Given the description of an element on the screen output the (x, y) to click on. 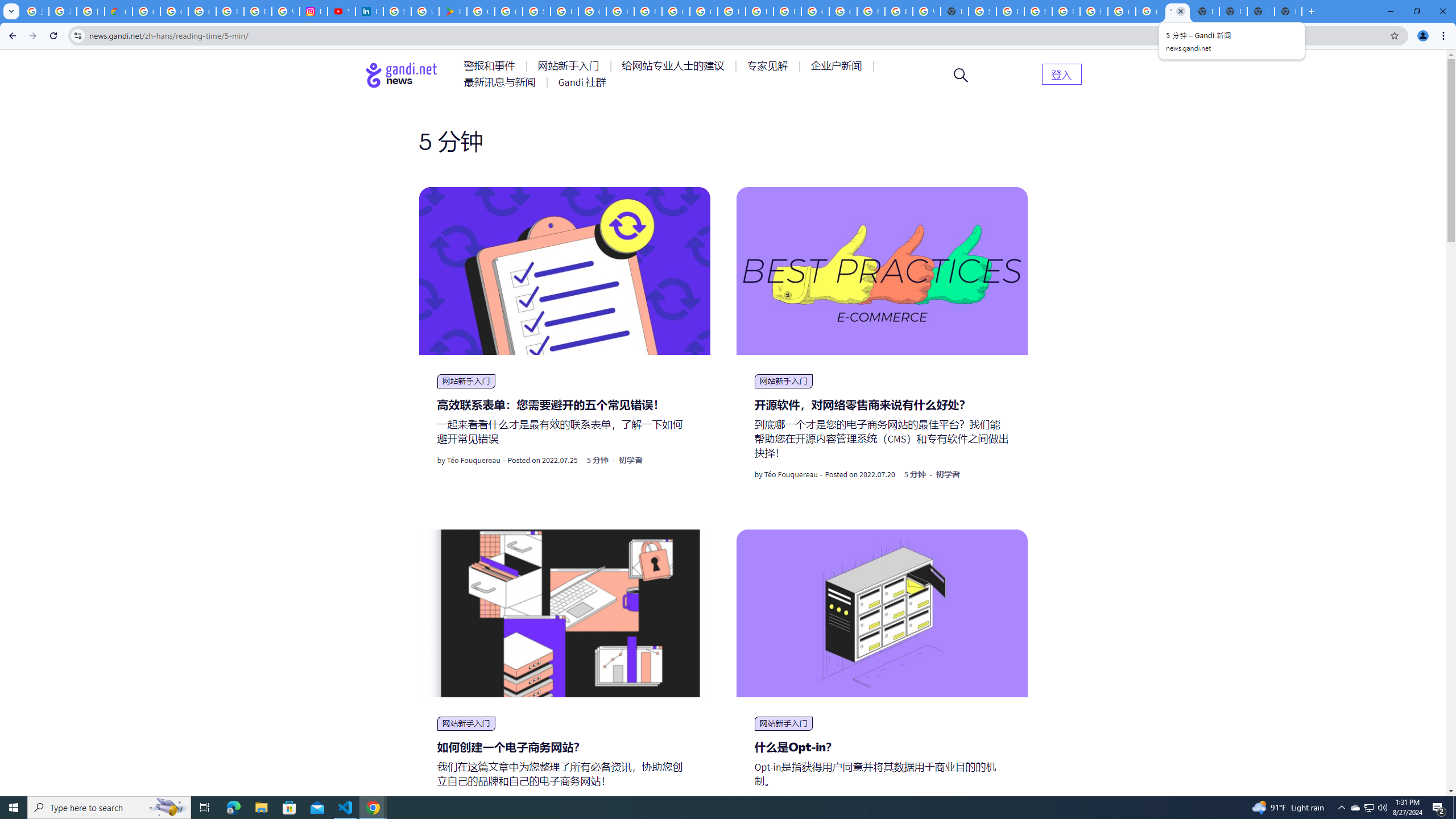
AutomationID: menu-item-77765 (838, 65)
Sign in - Google Accounts (397, 11)
How do I create a new Google Account? - Google Account Help (620, 11)
